Given the description of an element on the screen output the (x, y) to click on. 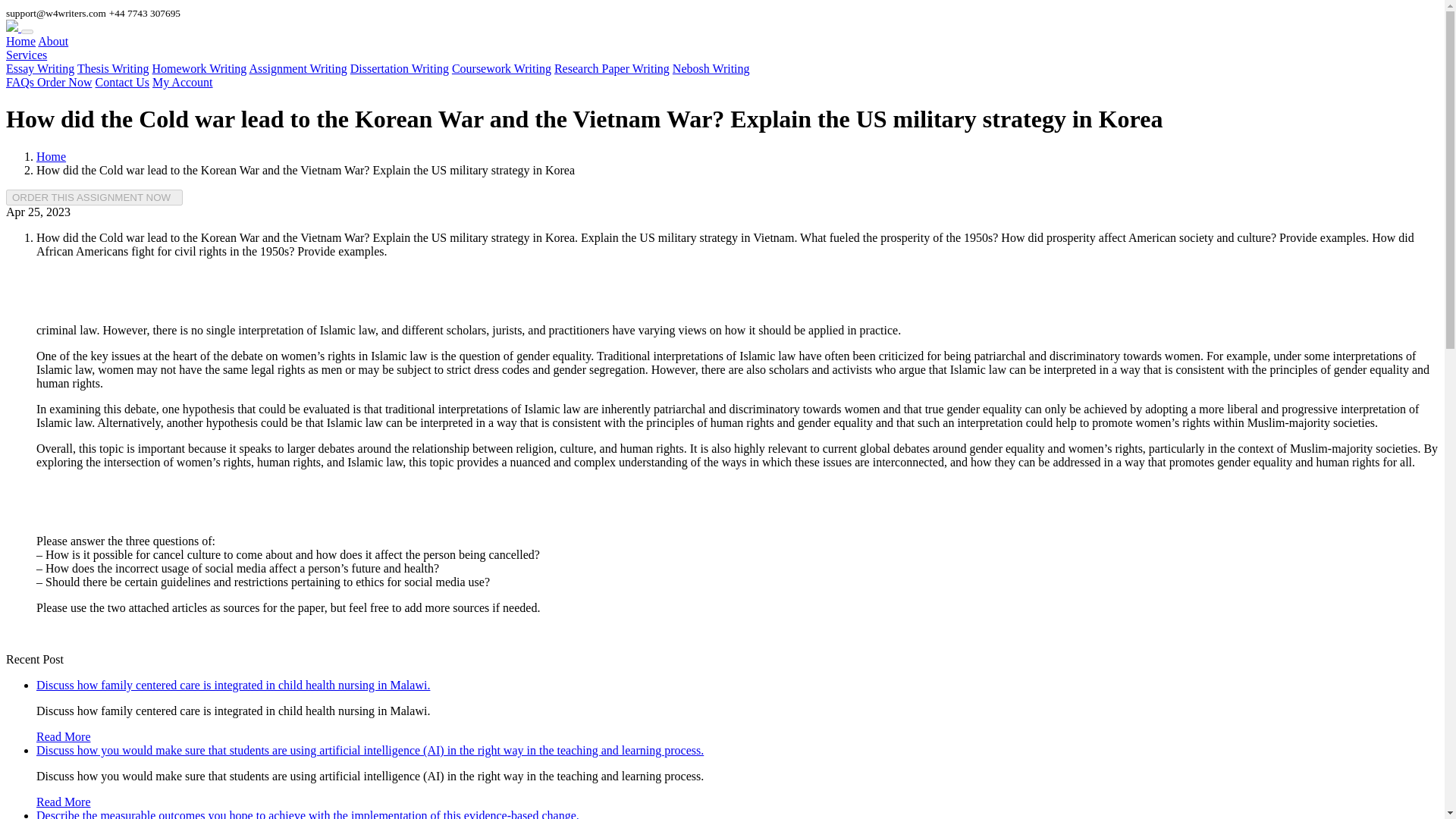
Coursework Writing (501, 68)
About (52, 41)
ORDER THIS ASSIGNMENT NOW   (94, 197)
Thesis Writing (113, 68)
My Account (182, 82)
Home (19, 41)
Homework Writing (198, 68)
Order Now (64, 82)
FAQs (21, 82)
ORDER THIS ASSIGNMENT NOW   (94, 197)
Read More (63, 801)
Dissertation Writing (399, 68)
Read More (63, 736)
Assignment Writing (297, 68)
